Given the description of an element on the screen output the (x, y) to click on. 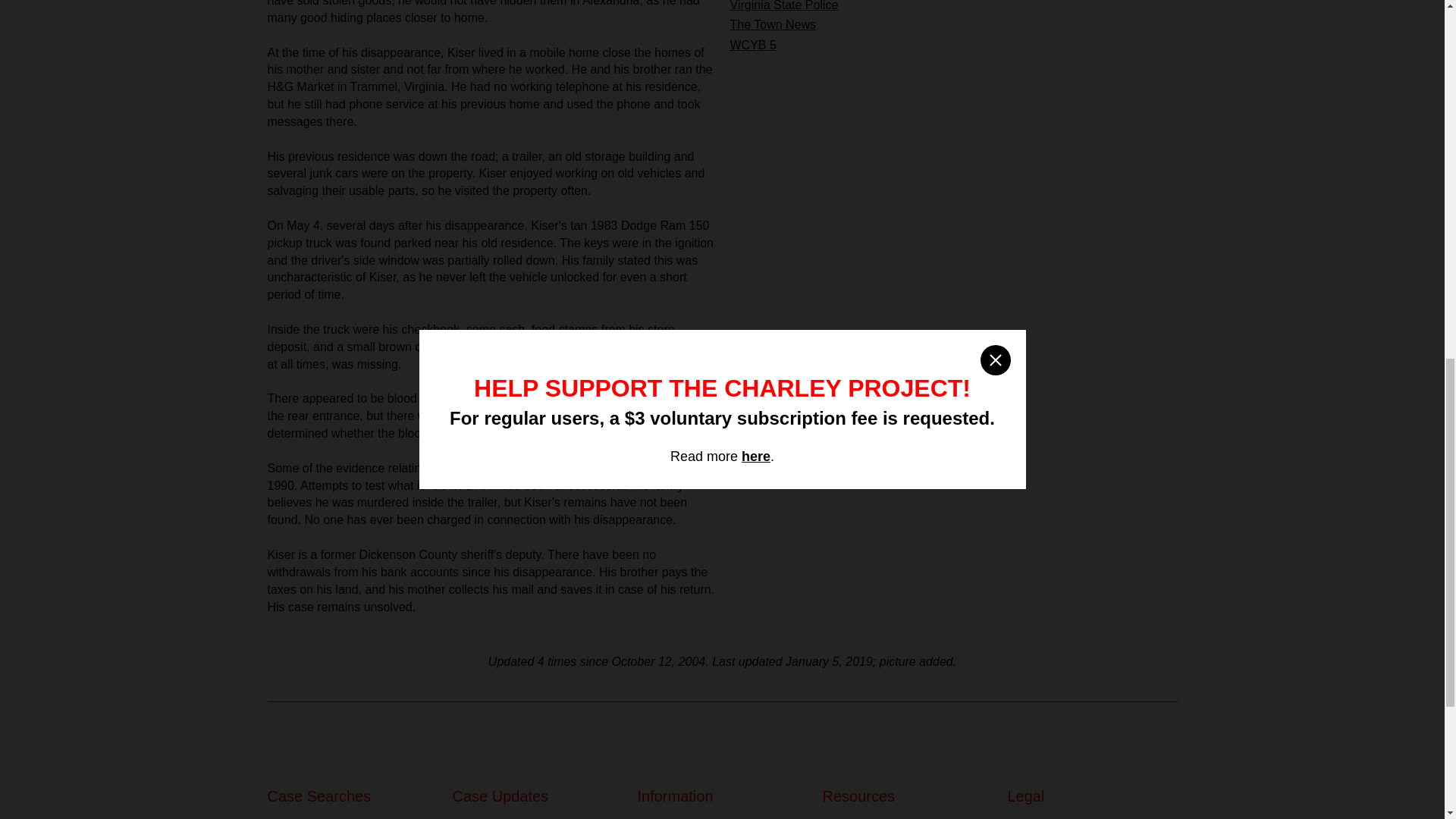
The Town News (772, 24)
Virginia State Police (783, 5)
WCYB 5 (752, 44)
